Given the description of an element on the screen output the (x, y) to click on. 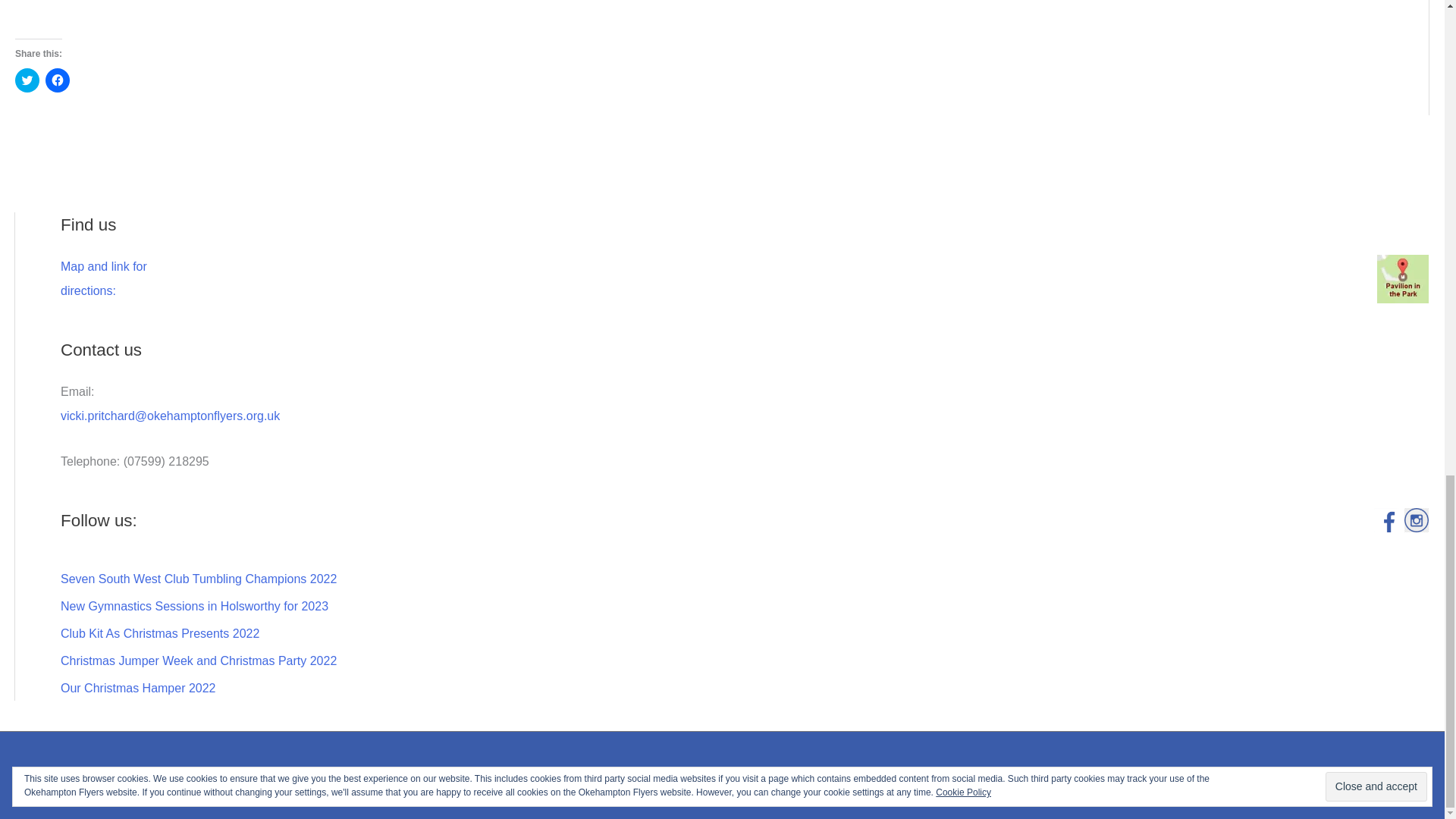
Christmas Jumper Week and Christmas Party 2022 (198, 660)
Go to Okehampton Flyers on Instagram (1416, 519)
Our Christmas Hamper 2022 (138, 687)
Go to Okehampton Flyers on Facebook (1385, 519)
Seven South West Club Tumbling Champions 2022 (198, 578)
Click to share on Facebook (104, 278)
Click to share on Twitter (57, 79)
Club Kit As Christmas Presents 2022 (26, 79)
New Gymnastics Sessions in Holsworthy for 2023 (160, 633)
